Given the description of an element on the screen output the (x, y) to click on. 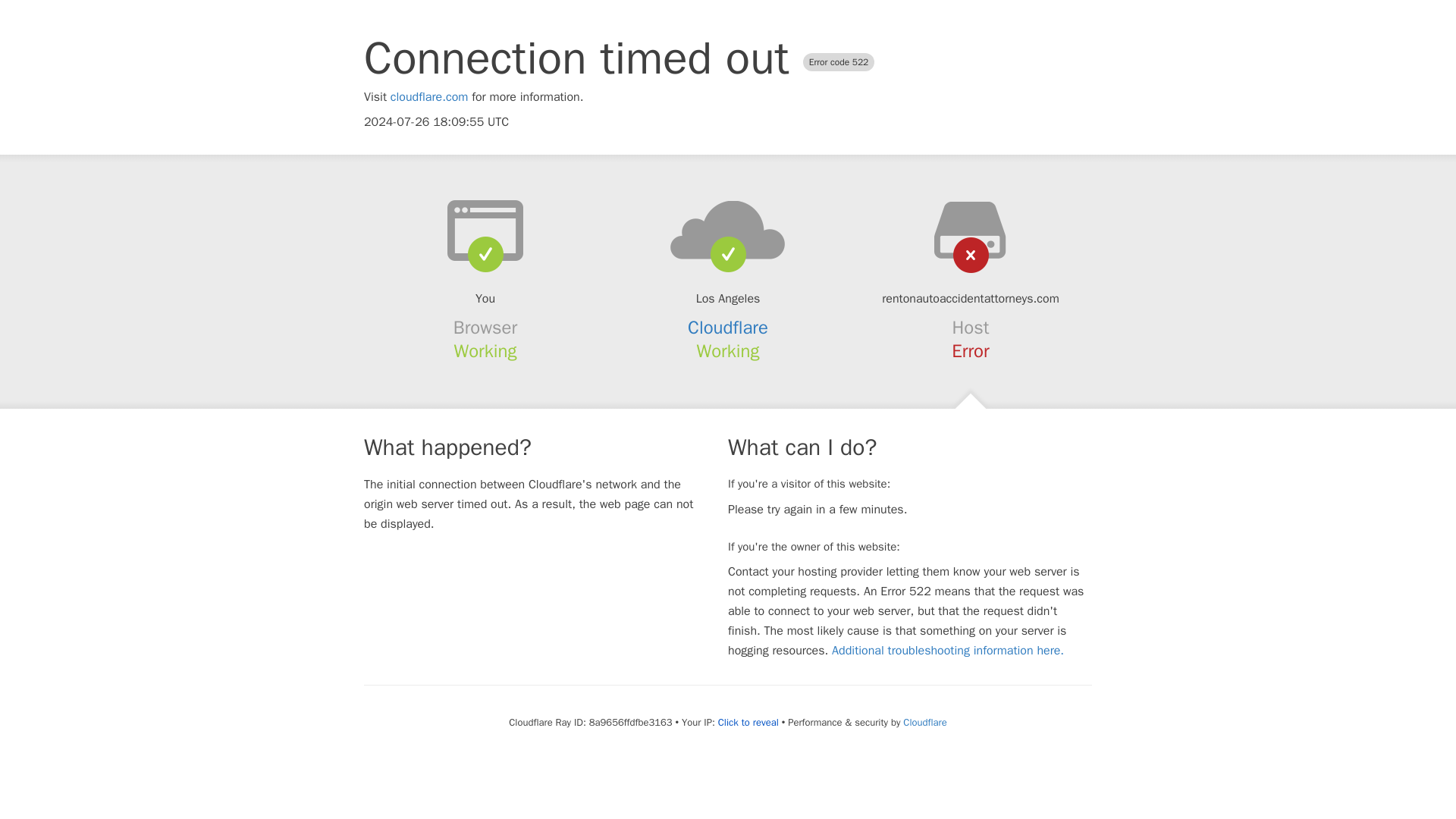
Click to reveal (747, 722)
Cloudflare (727, 327)
Additional troubleshooting information here. (947, 650)
Cloudflare (924, 721)
cloudflare.com (429, 96)
